Given the description of an element on the screen output the (x, y) to click on. 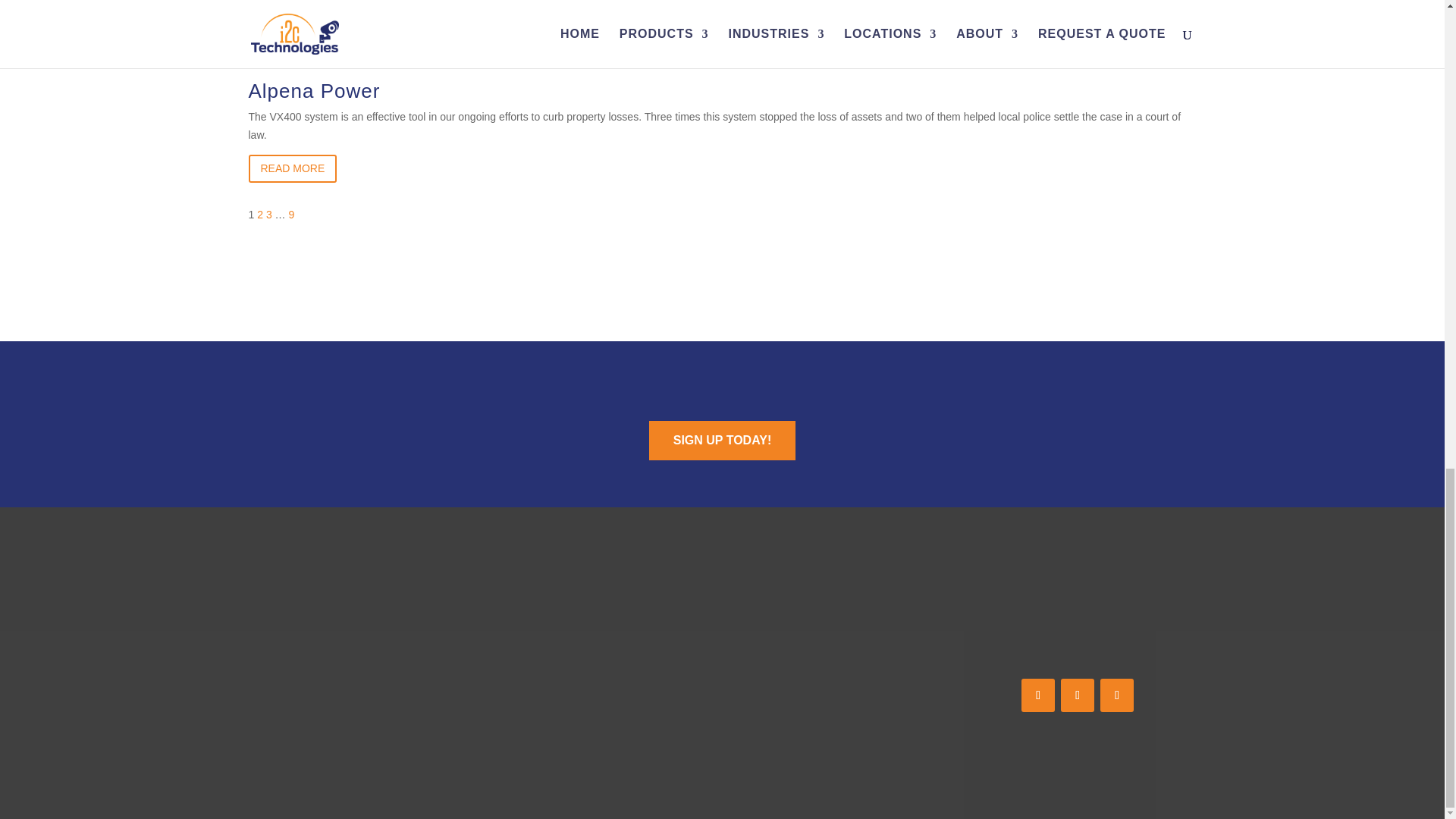
Follow on Youtube (1117, 694)
Follow on X (1077, 694)
Follow on Facebook (1038, 694)
